Given the description of an element on the screen output the (x, y) to click on. 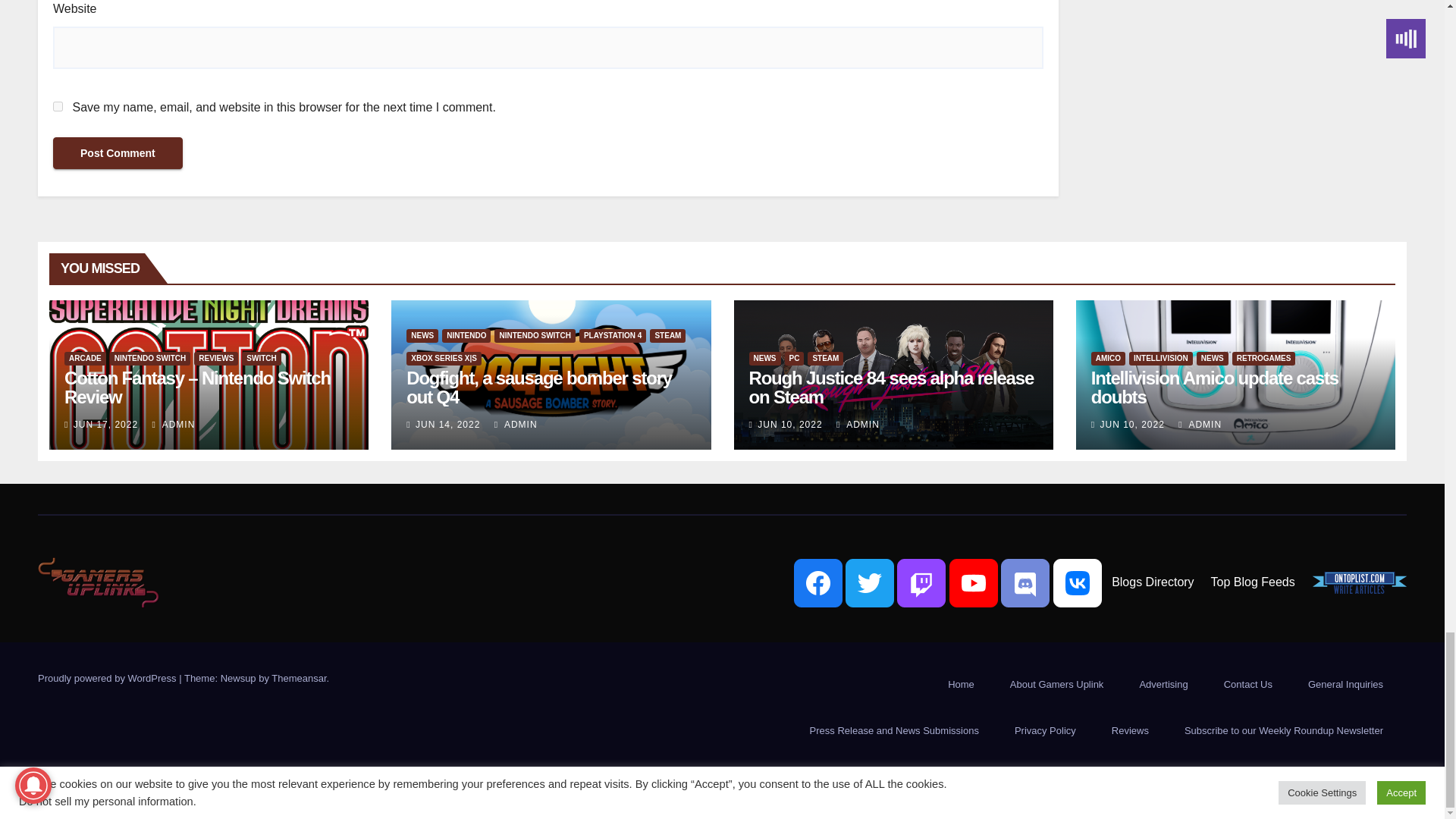
yes (57, 106)
Post Comment (117, 152)
